Given the description of an element on the screen output the (x, y) to click on. 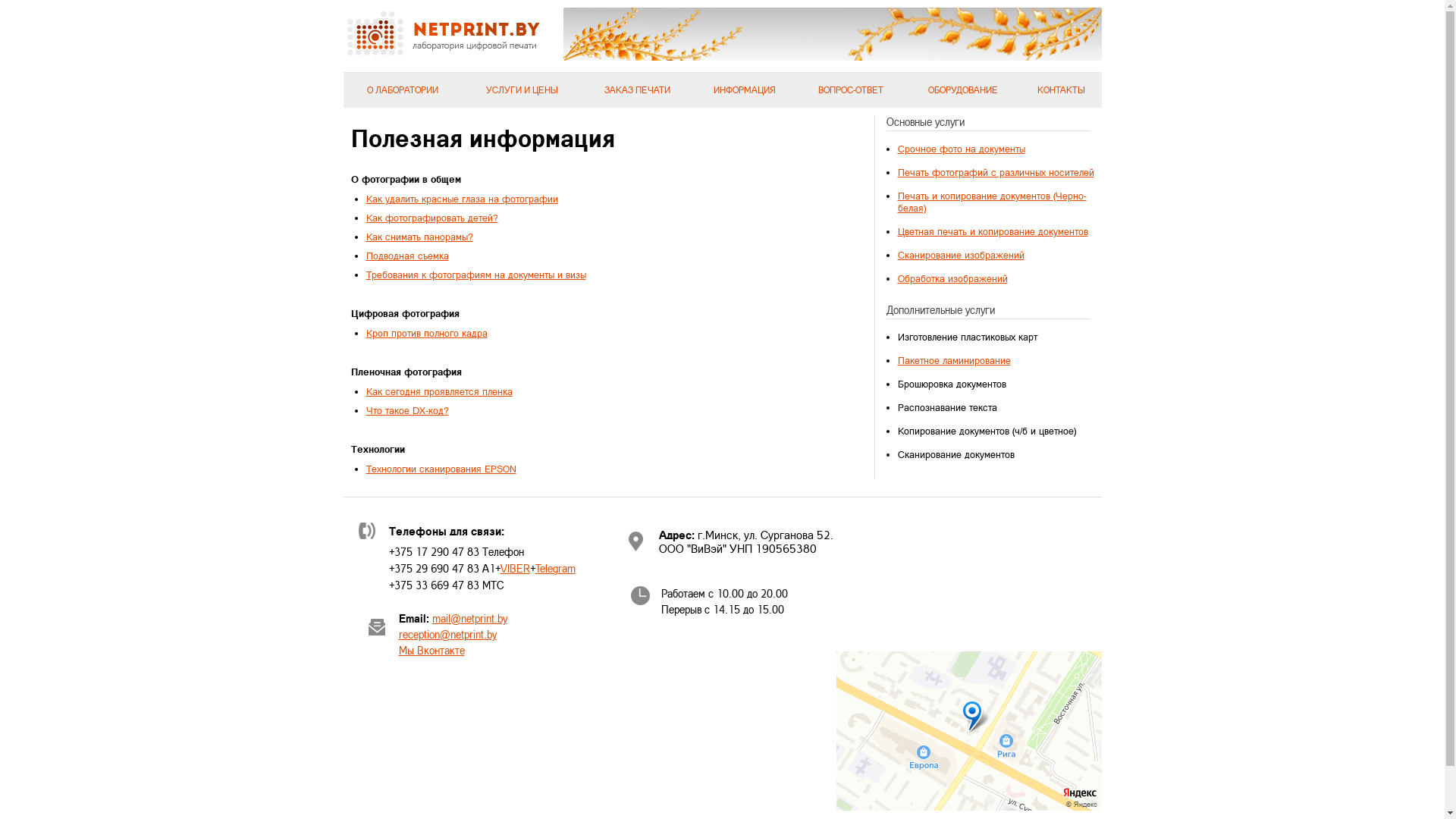
VIBER Element type: text (515, 567)
reception@netprint.by Element type: text (447, 633)
mail@netprint.by Element type: text (469, 617)
Telegram Element type: text (555, 567)
